Given the description of an element on the screen output the (x, y) to click on. 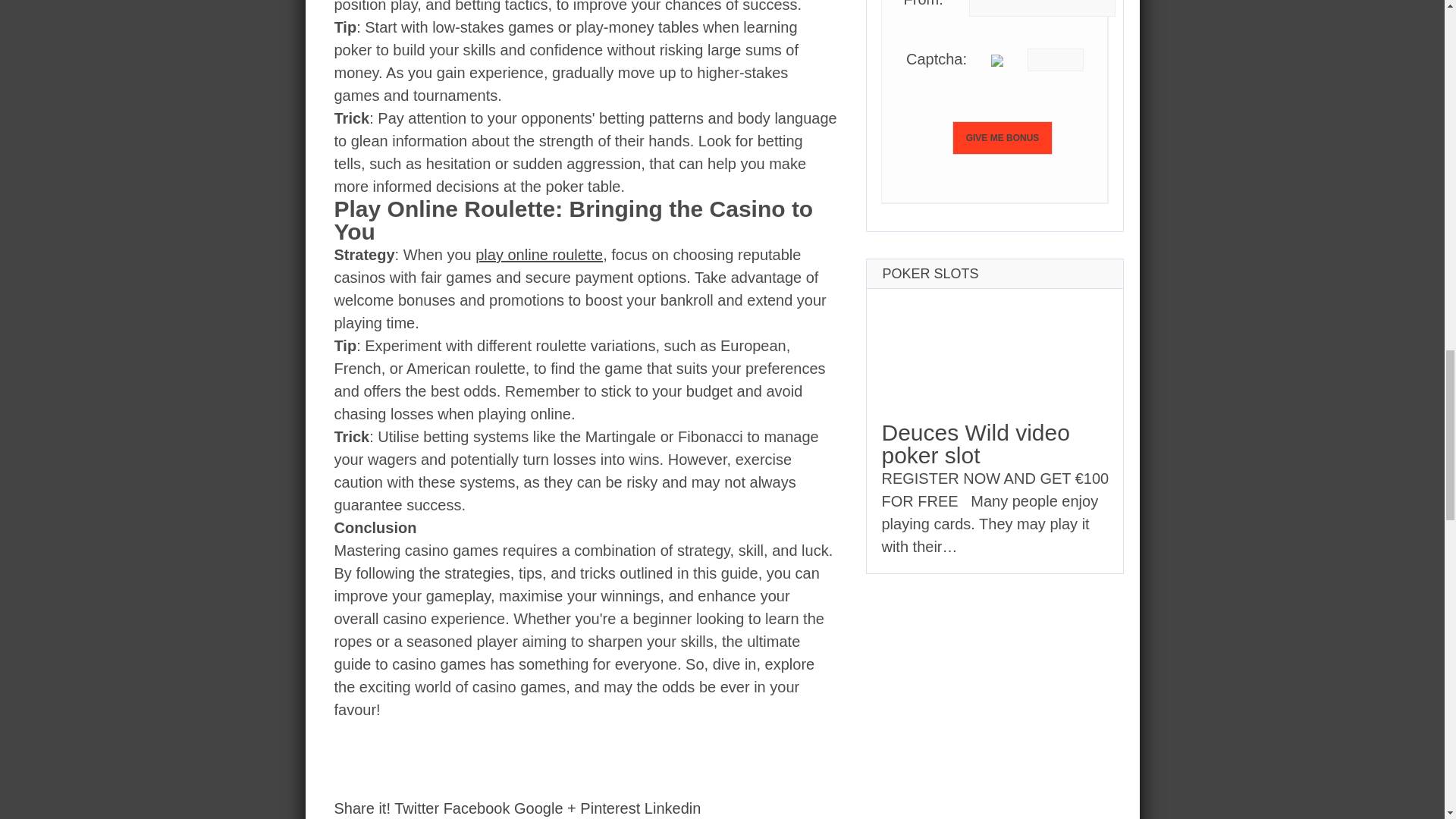
Pinterest (609, 808)
Share it! (361, 808)
play online roulette (539, 254)
Facebook (477, 808)
Twitter (416, 808)
GIVE ME BONUS (1002, 137)
Linkedin (673, 808)
